Given the description of an element on the screen output the (x, y) to click on. 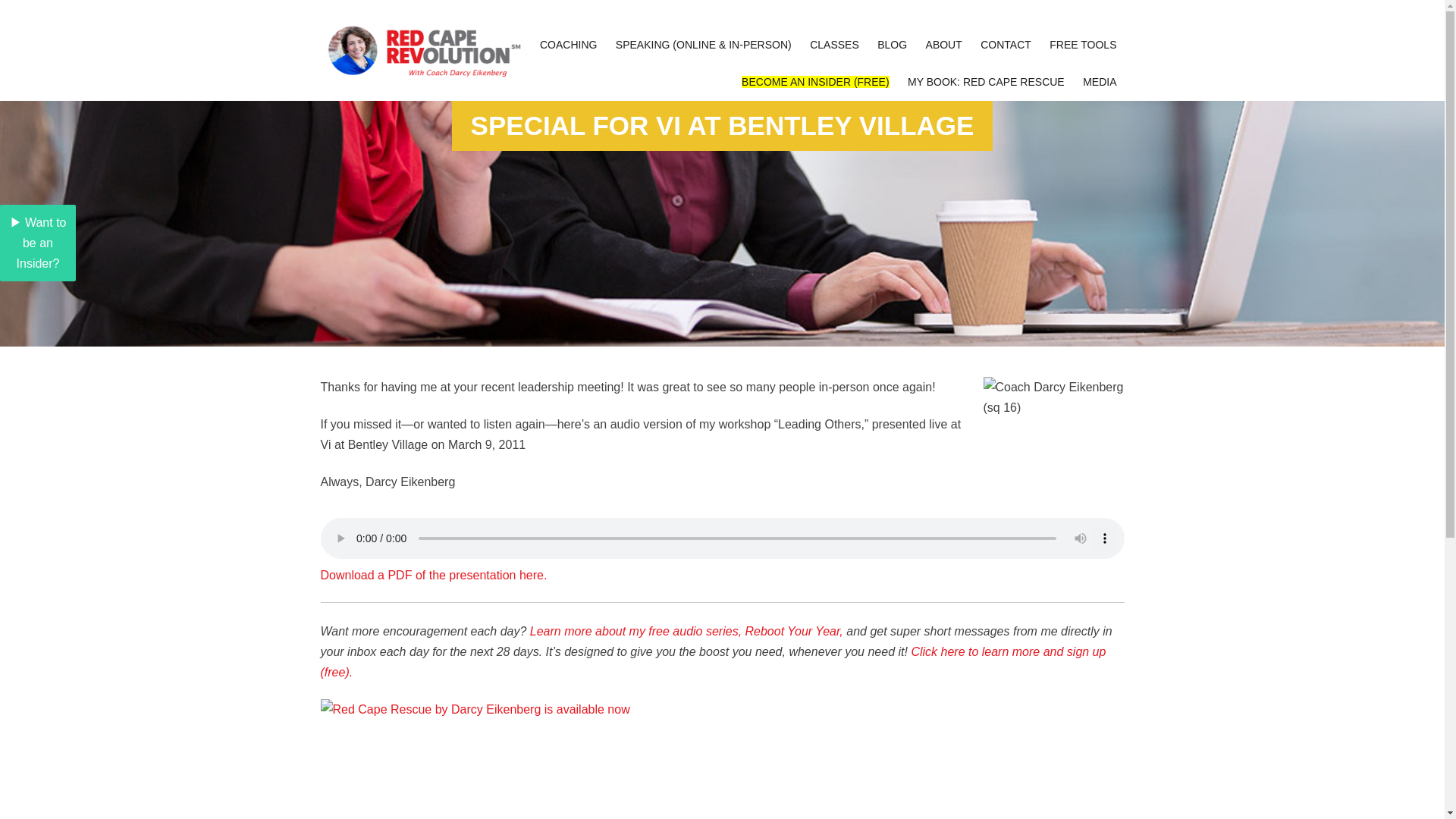
MY BOOK: RED CAPE RESCUE (985, 81)
Red Cape Rescue by Darcy Eikenberg is available now (722, 759)
BLOG (891, 44)
ABOUT (943, 44)
Media (1099, 81)
My Book: Red Cape Rescue (985, 81)
CONTACT (1005, 44)
Red Cape Revolution with Coach Darcy Eikenberg (420, 50)
COACHING (568, 44)
CLASSES (834, 44)
